Given the description of an element on the screen output the (x, y) to click on. 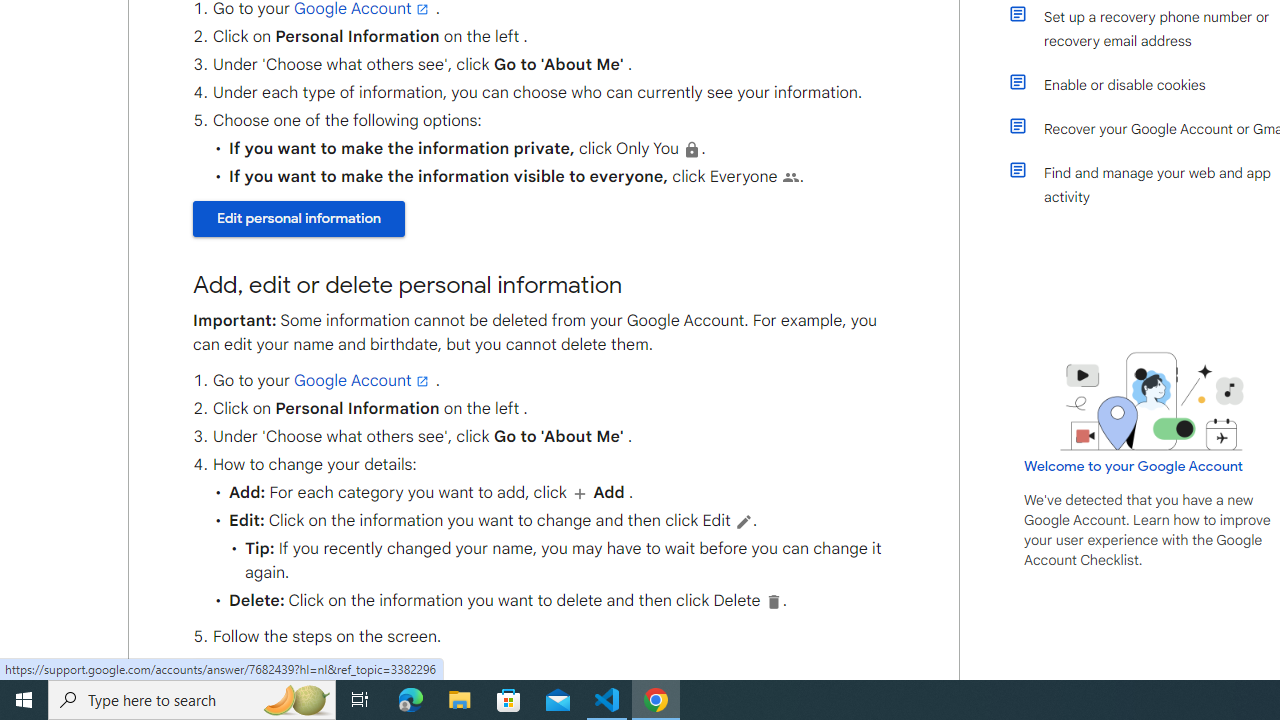
Edit personal information (298, 678)
To process (742, 521)
Add User (579, 493)
People (790, 177)
To delete (773, 601)
Welcome to your Google Account (1134, 466)
Private, tap to edit who can see this data (692, 149)
Learning Center home page image (1152, 401)
Google Account (363, 380)
